Given the description of an element on the screen output the (x, y) to click on. 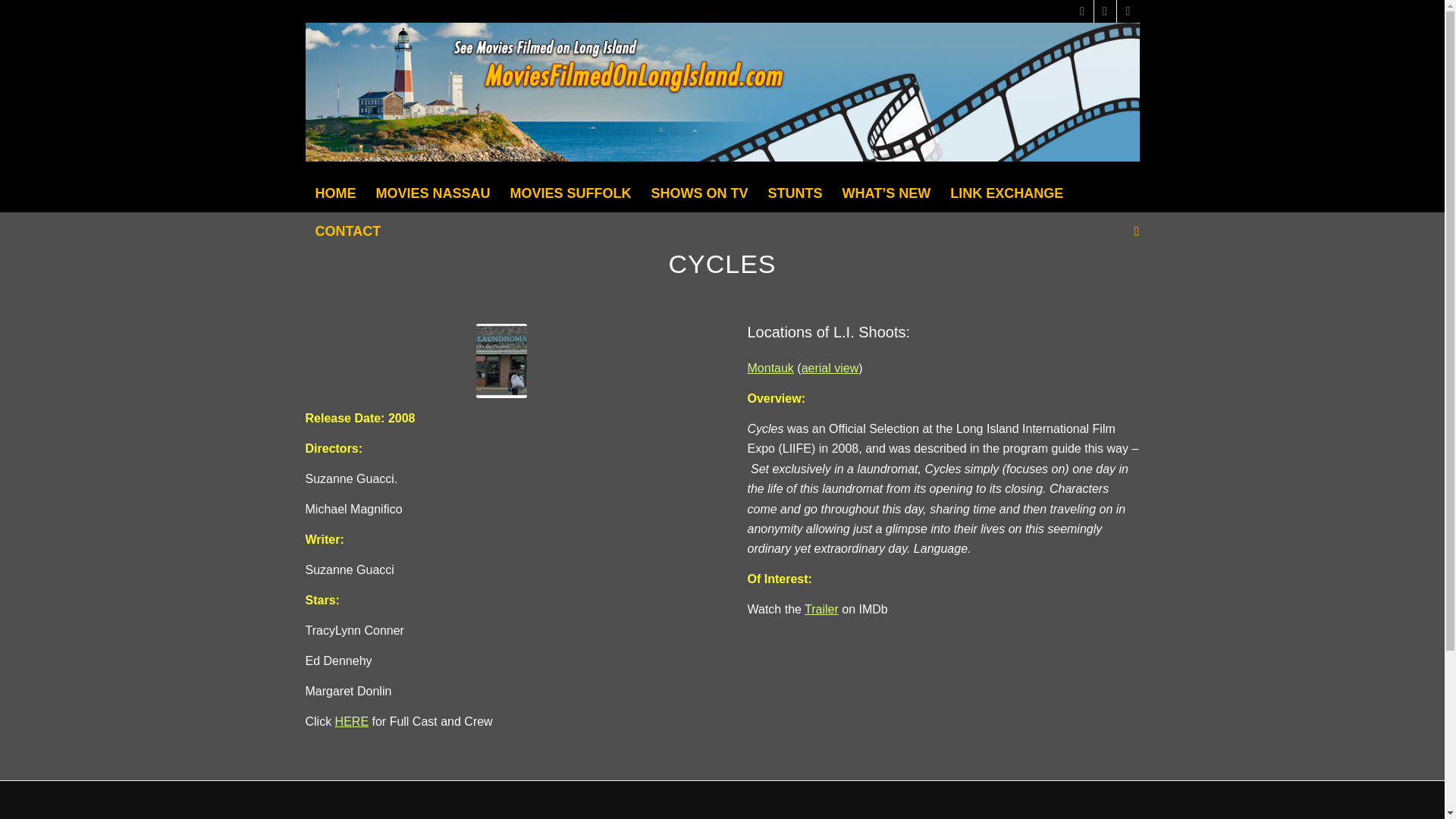
Instagram (1127, 11)
LINK EXCHANGE (1006, 193)
Montauk (770, 367)
Trailer (821, 608)
Twitter (1081, 11)
MOVIES SUFFOLK (571, 193)
HOME (334, 193)
CONTACT (347, 231)
HERE (351, 721)
STUNTS (795, 193)
